Given the description of an element on the screen output the (x, y) to click on. 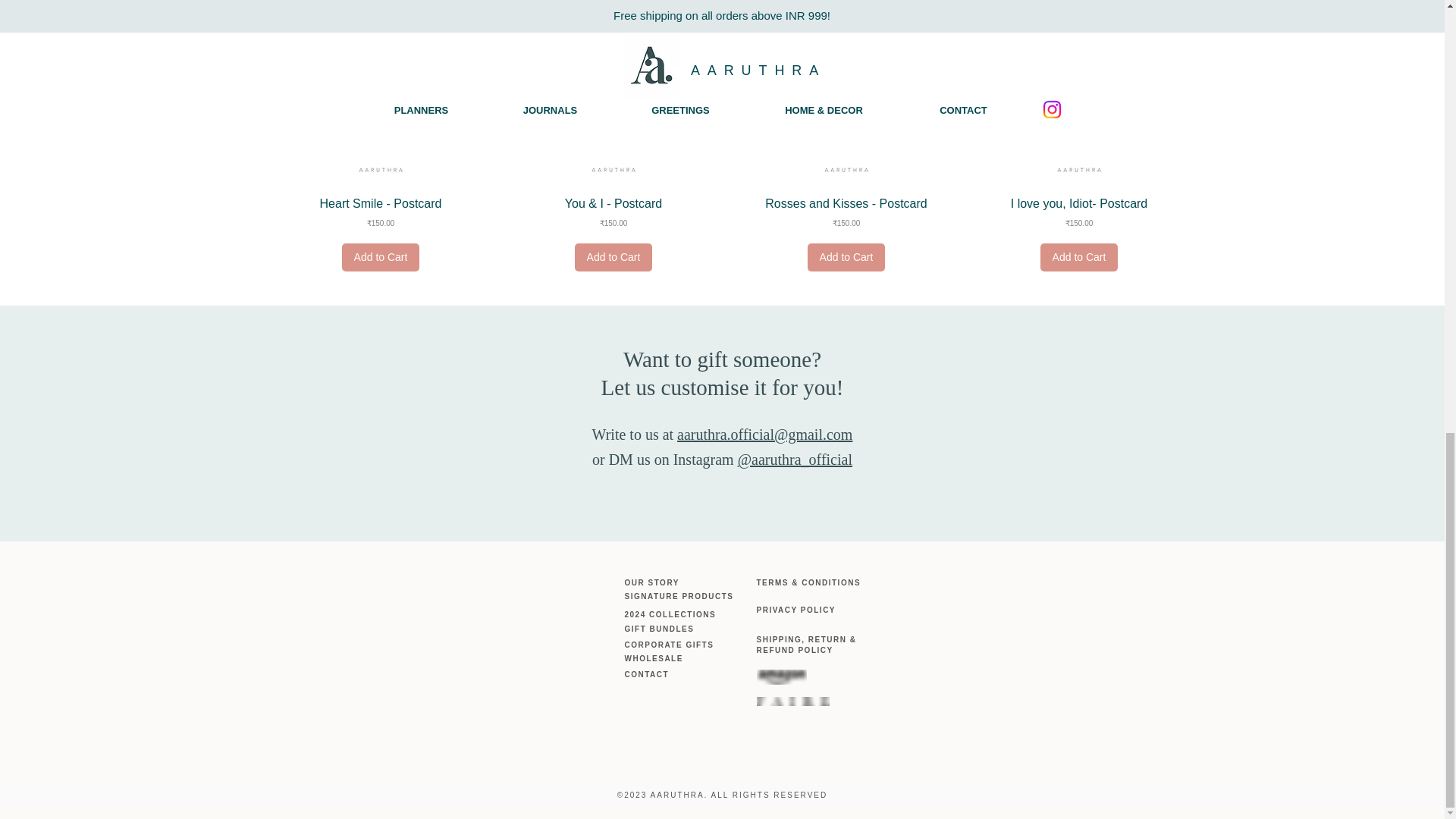
Add to Cart (613, 257)
Add to Cart (846, 257)
Add to Cart (381, 257)
Add to Cart (1079, 257)
